Given the description of an element on the screen output the (x, y) to click on. 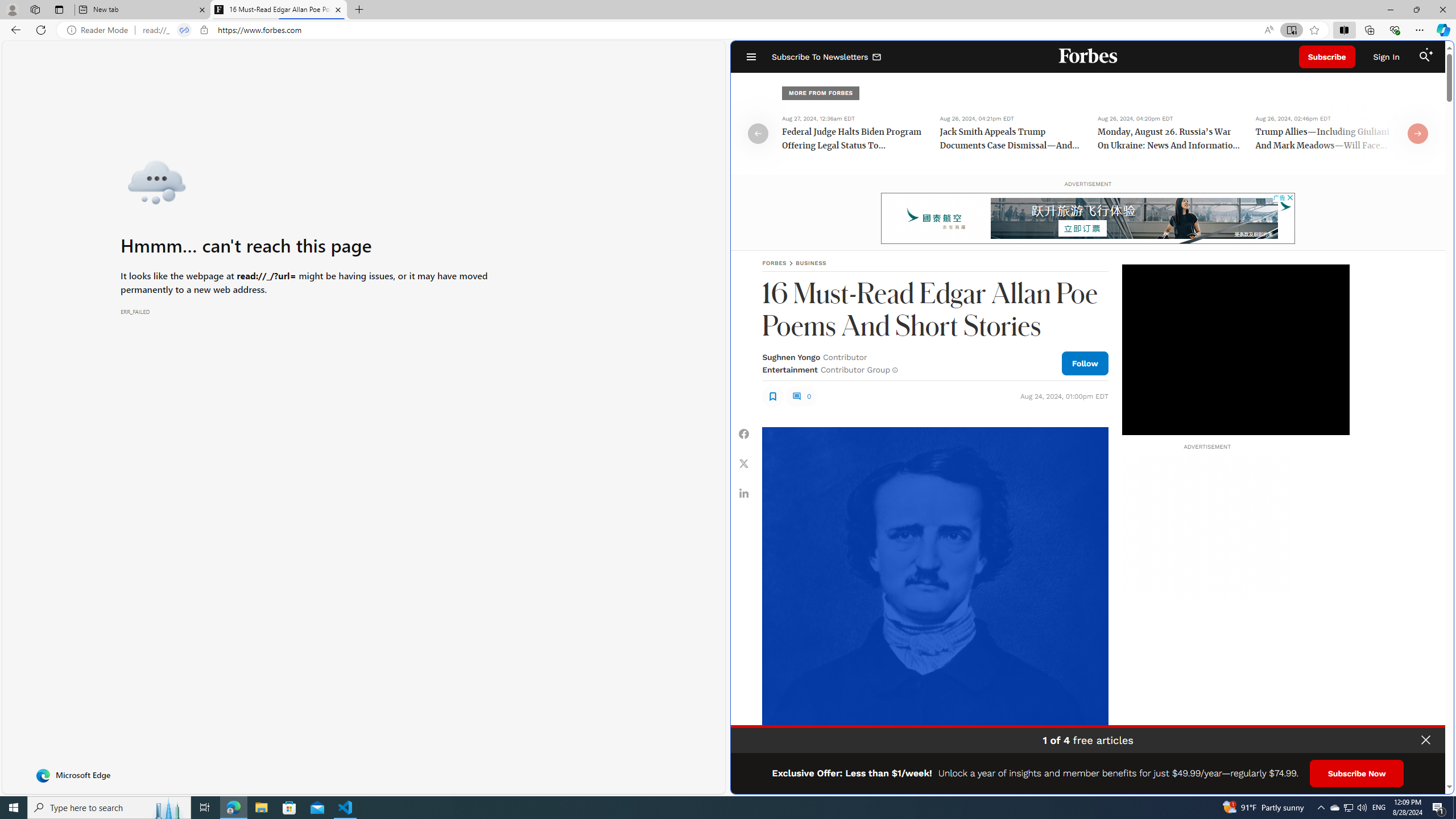
Class: sparkles_svg__fs-icon sparkles_svg__fs-icon--sparkles (1430, 51)
Subscribe To Newsletters (826, 56)
Class: sElHJWe4 (772, 396)
Subscribe (1326, 56)
